Given the description of an element on the screen output the (x, y) to click on. 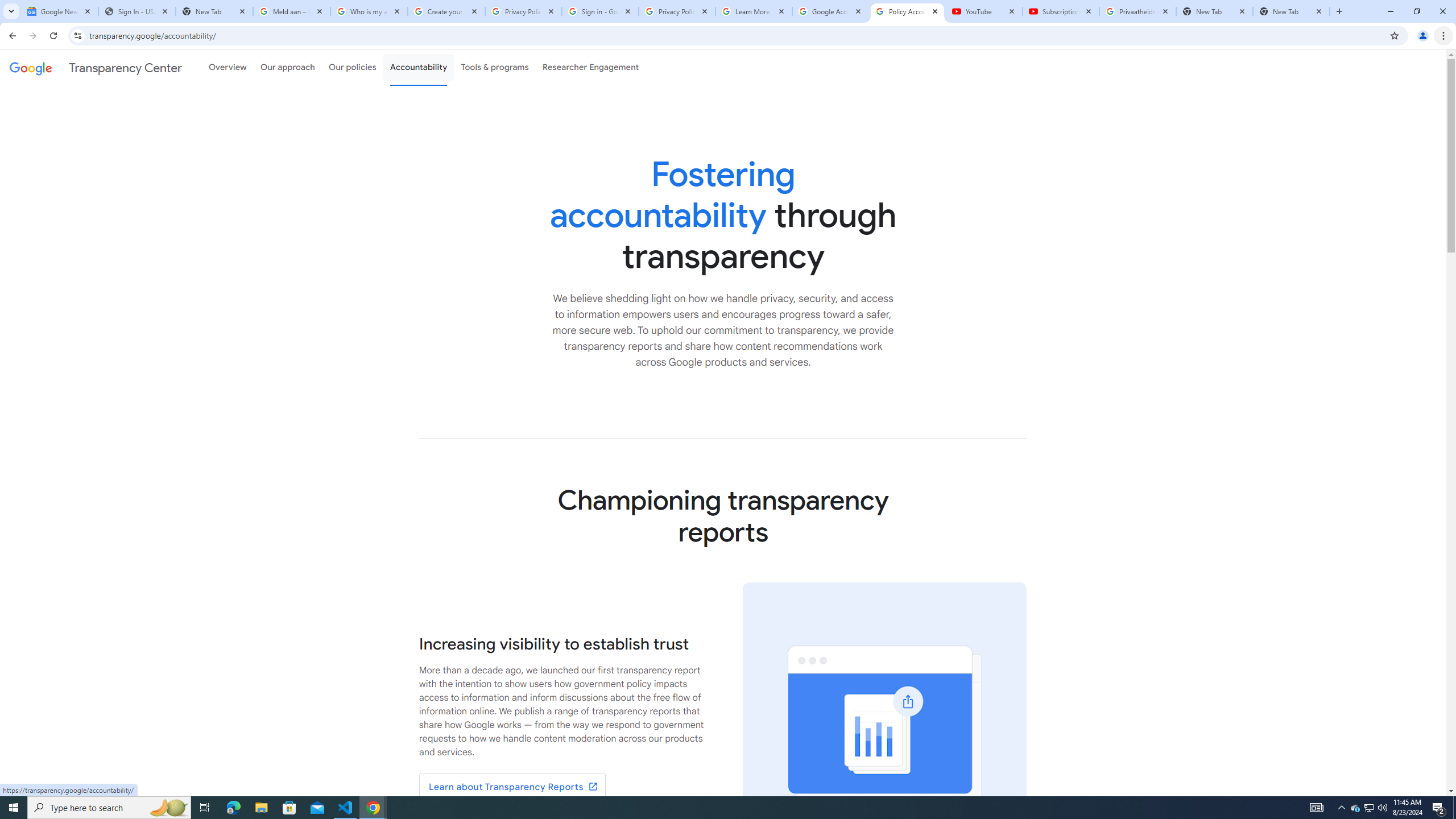
Accountability (418, 67)
Our approach (287, 67)
Transparency Center (95, 67)
Our policies (351, 67)
Who is my administrator? - Google Account Help (368, 11)
